Given the description of an element on the screen output the (x, y) to click on. 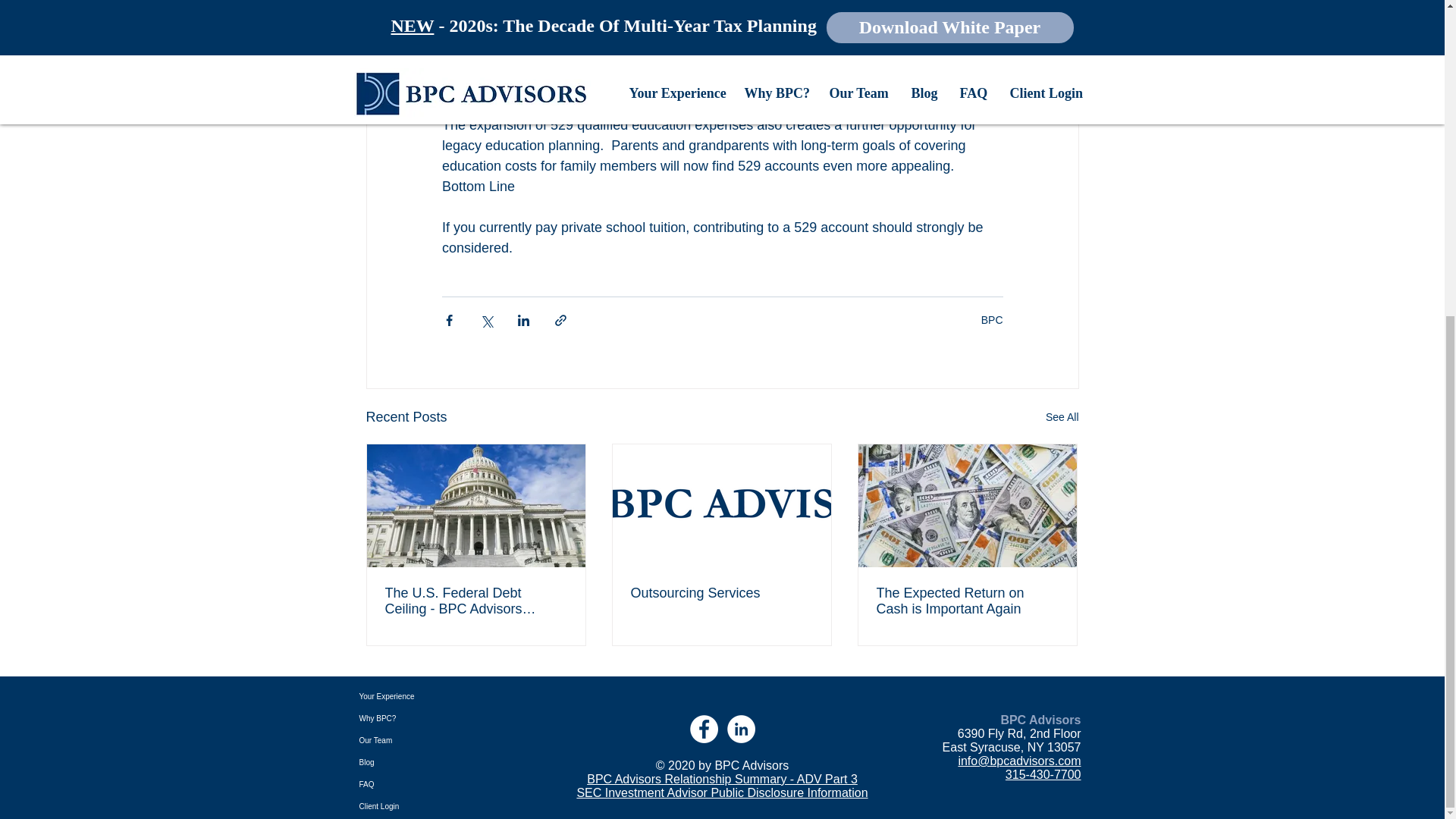
Your Experience (408, 696)
FAQ (408, 784)
See All (1061, 417)
The Expected Return on Cash is Important Again (967, 601)
Blog (408, 762)
The U.S. Federal Debt Ceiling - BPC Advisors Perspective (476, 601)
Outsourcing Services (721, 593)
Why BPC? (408, 718)
NY 529 program (728, 22)
SEC Investment Advisor Public Disclosure Information (721, 792)
Client Login (408, 806)
315-430-7700 (1043, 774)
BPC (992, 318)
